Given the description of an element on the screen output the (x, y) to click on. 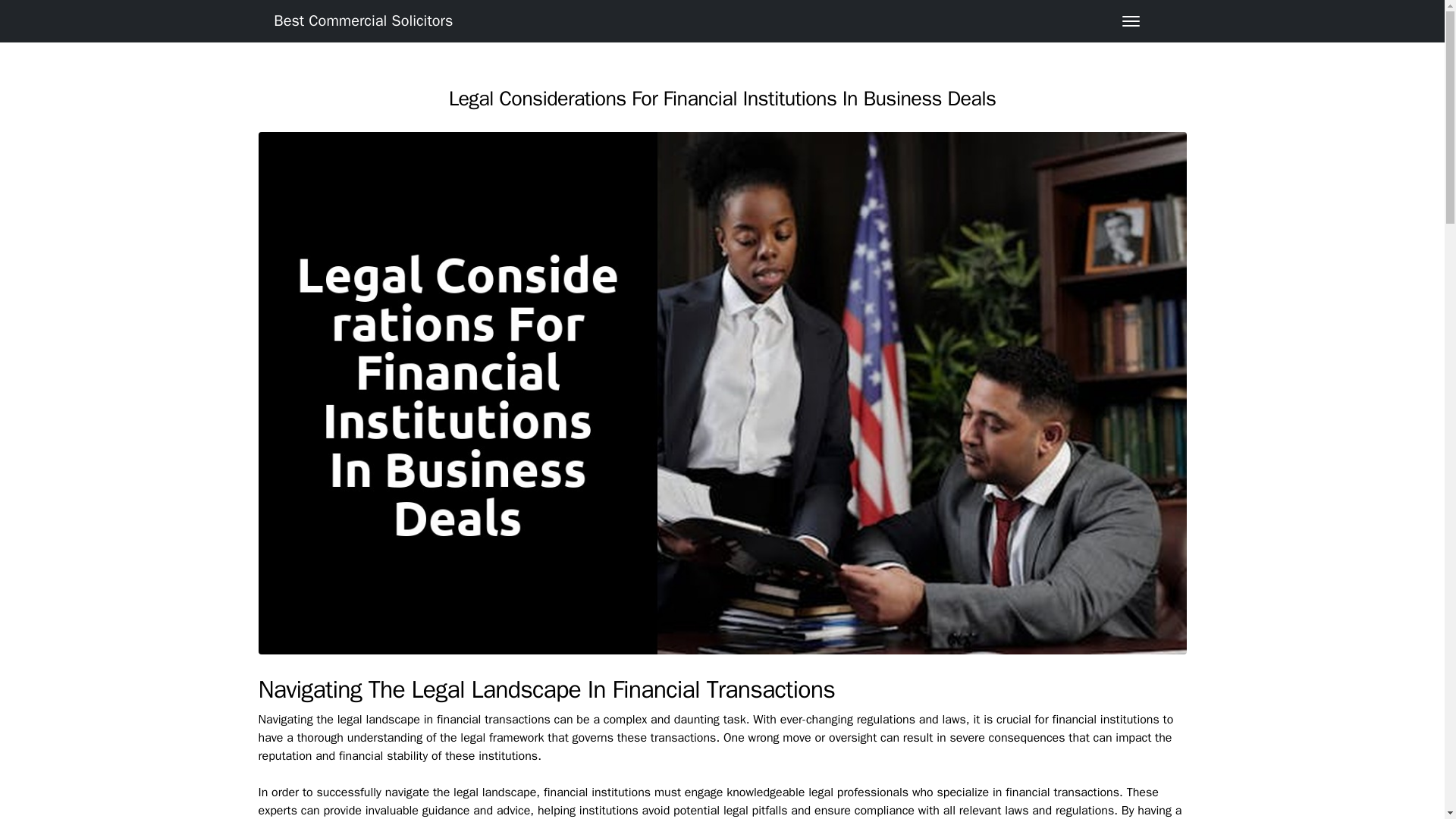
Best Commercial Solicitors (360, 20)
